Given the description of an element on the screen output the (x, y) to click on. 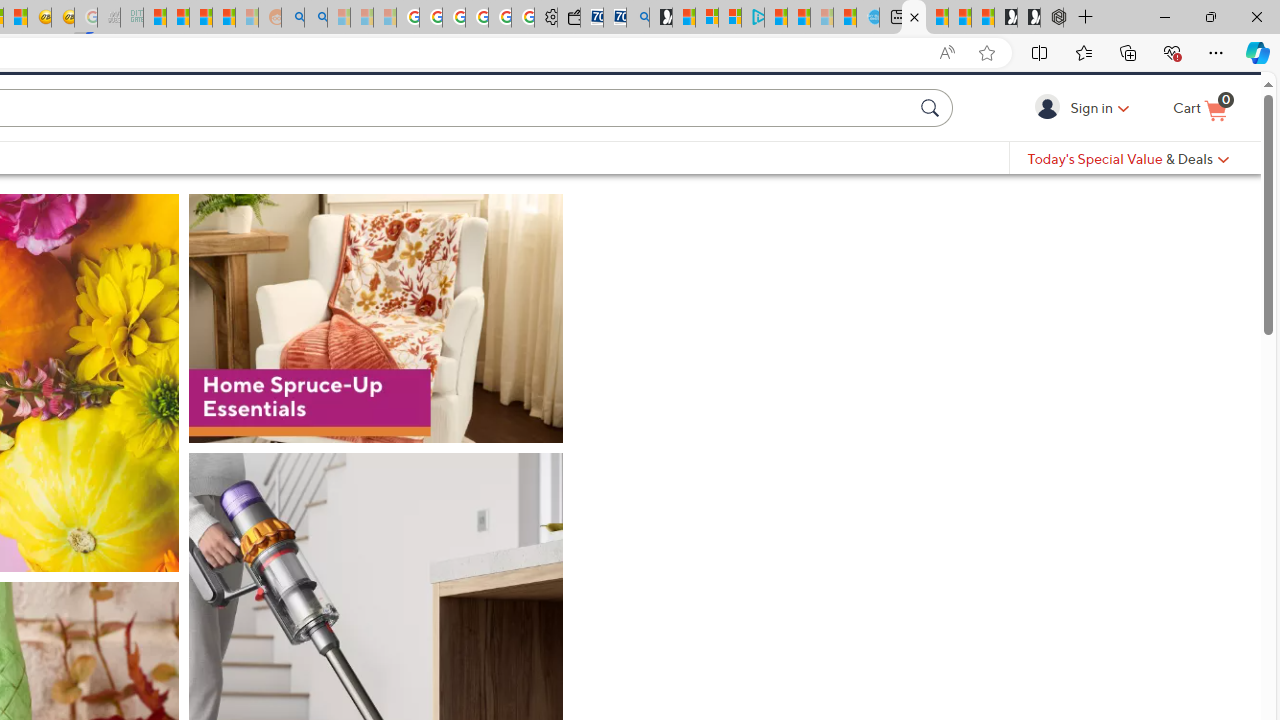
Today's Special Value & Deals (1128, 192)
Utah sues federal government - Search (315, 17)
Wallet (568, 17)
Home | Sky Blue Bikes - Sky Blue Bikes (867, 17)
Student Loan Update: Forgiveness Program Ends This Month (223, 17)
